Given the description of an element on the screen output the (x, y) to click on. 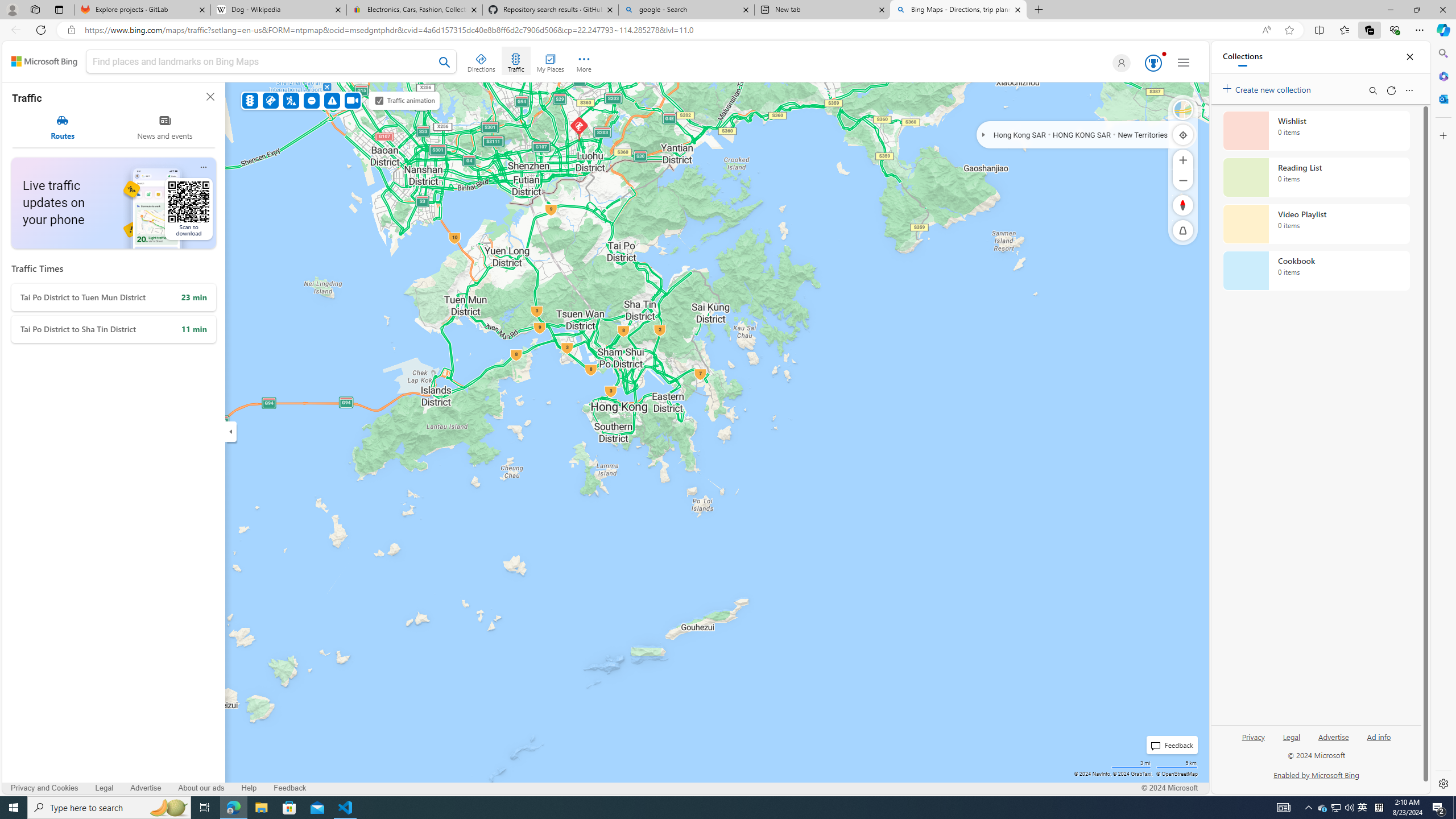
Default Profile Picture (1119, 62)
More options menu (1409, 90)
Miscellaneous incidents (332, 100)
Directions (481, 60)
My Places (549, 60)
More (583, 60)
AutomationID: serp_medal_svg (1152, 63)
Satellite (1182, 109)
